Given the description of an element on the screen output the (x, y) to click on. 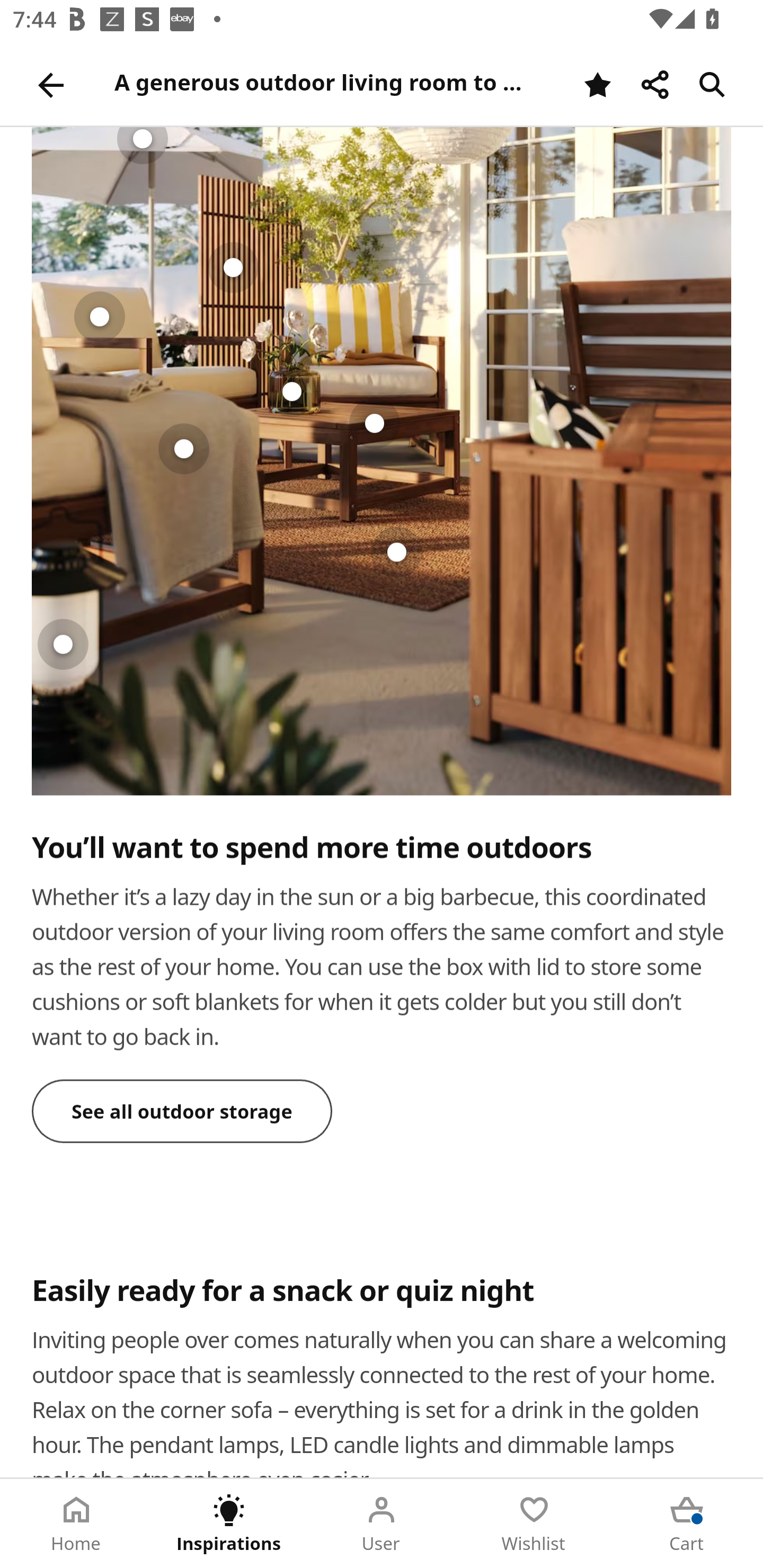
See all outdoor storage (181, 1111)
Home
Tab 1 of 5 (76, 1522)
Inspirations
Tab 2 of 5 (228, 1522)
User
Tab 3 of 5 (381, 1522)
Wishlist
Tab 4 of 5 (533, 1522)
Cart
Tab 5 of 5 (686, 1522)
